Given the description of an element on the screen output the (x, y) to click on. 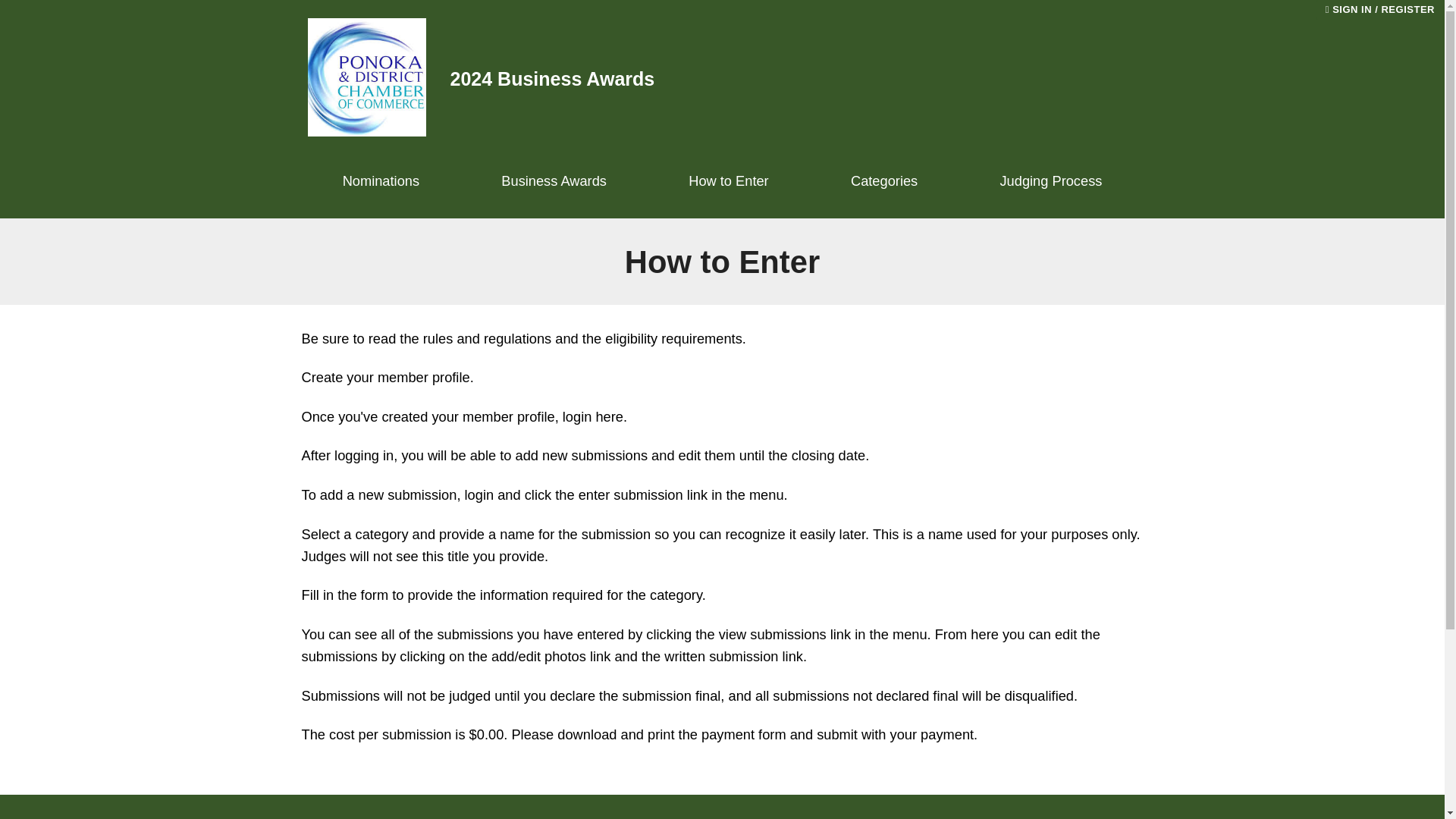
Nominations (381, 181)
Judging Process (1050, 181)
Business Awards (553, 181)
Categories (884, 181)
2024 Business Awards (481, 78)
How to Enter (728, 181)
